Given the description of an element on the screen output the (x, y) to click on. 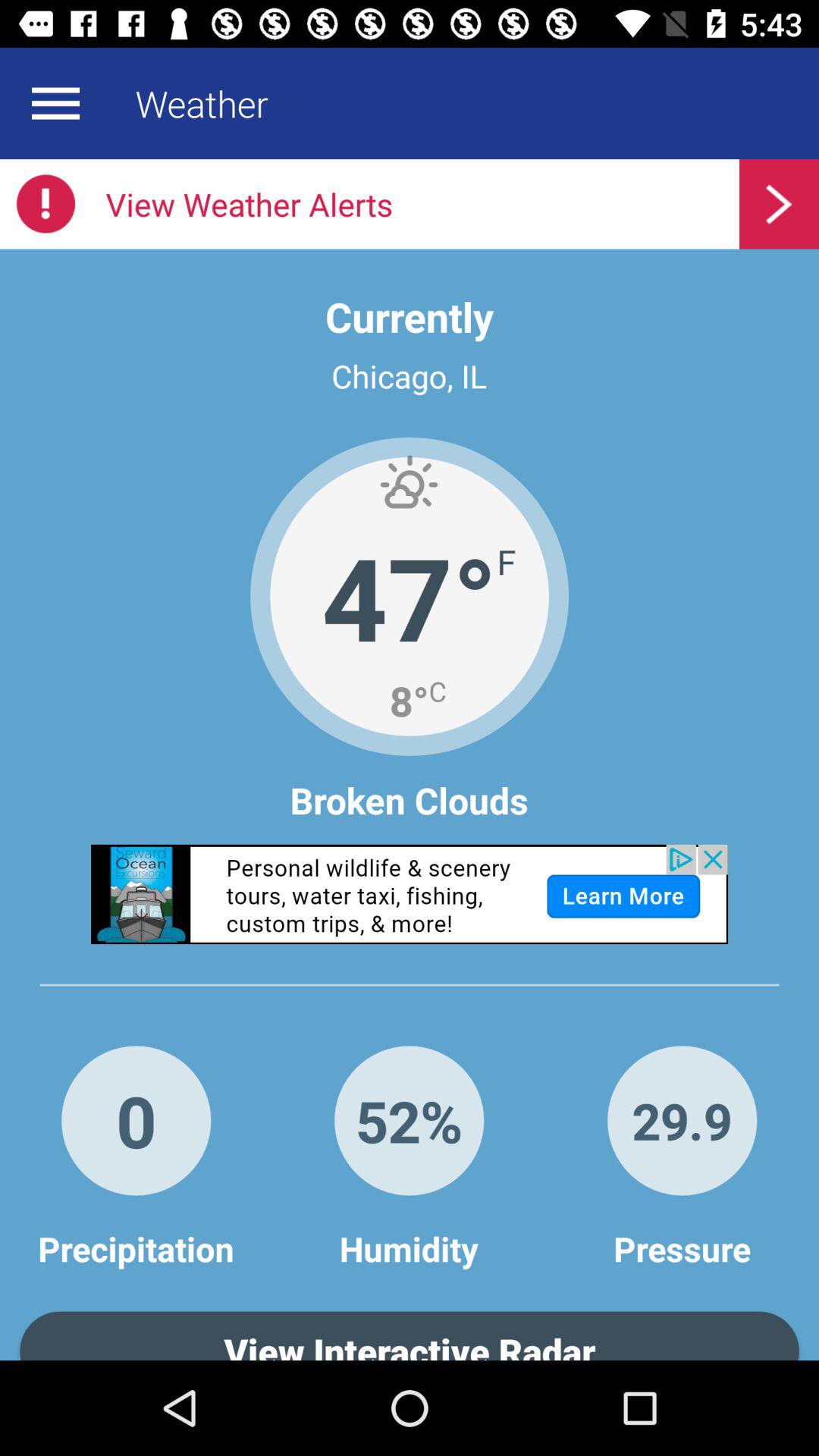
menu button (55, 103)
